Given the description of an element on the screen output the (x, y) to click on. 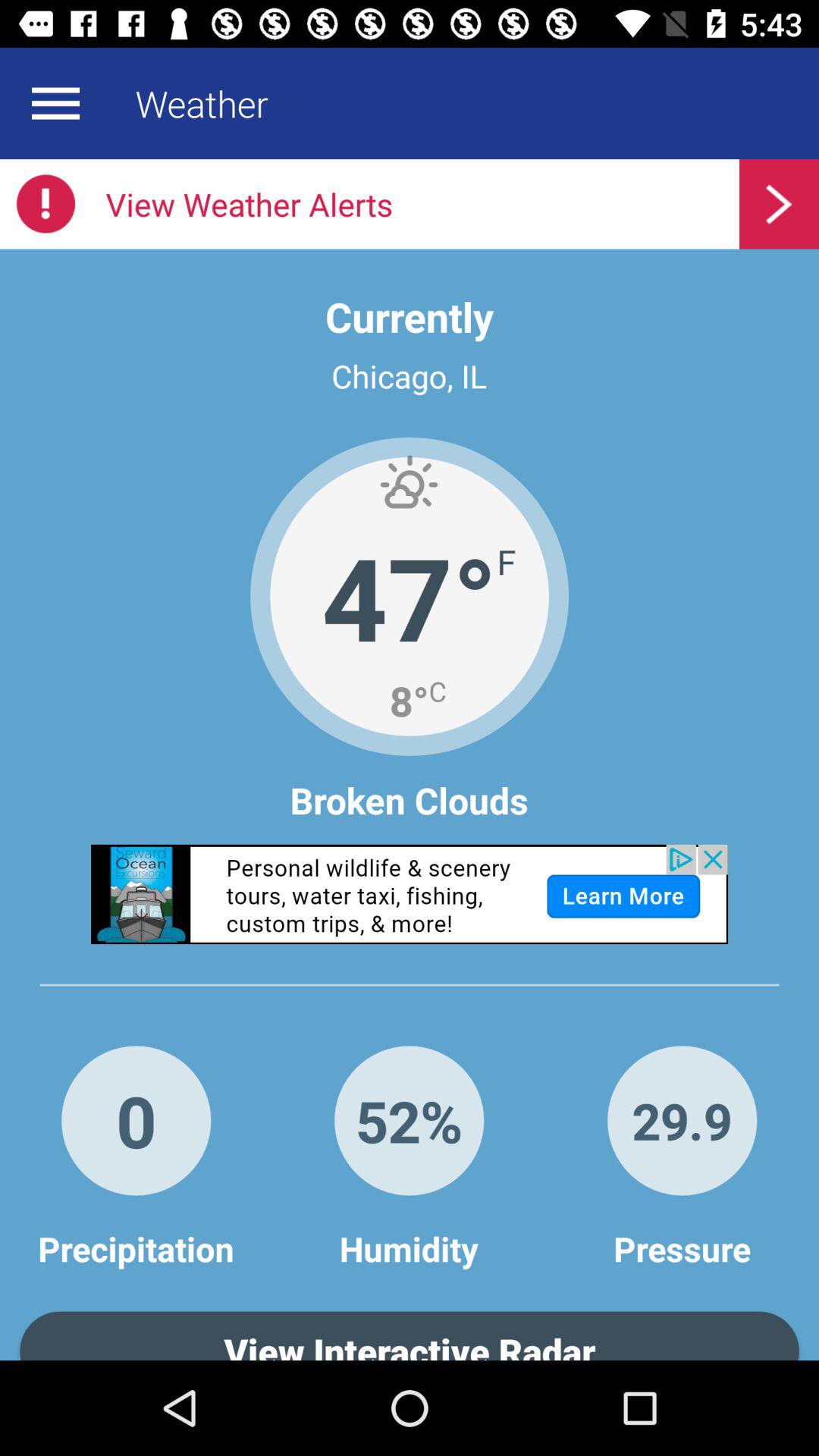
menu button (55, 103)
